Given the description of an element on the screen output the (x, y) to click on. 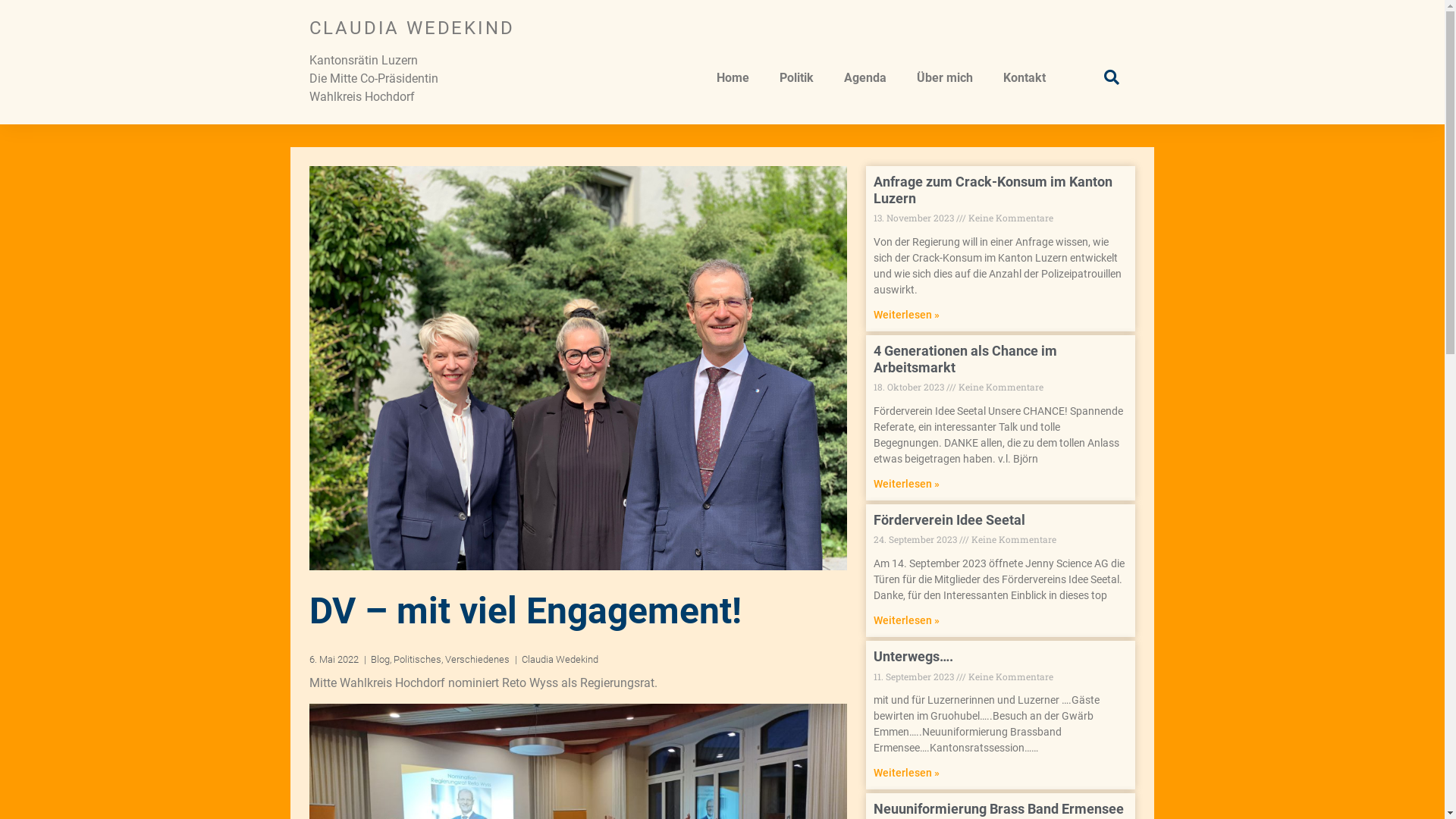
Politisches Element type: text (416, 659)
Anfrage zum Crack-Konsum im Kanton Luzern Element type: text (992, 189)
Home Element type: text (732, 77)
Blog Element type: text (379, 659)
Verschiedenes Element type: text (476, 659)
6. Mai 2022 Element type: text (333, 659)
Neuuniformierung Brass Band Ermensee Element type: text (998, 808)
Politik Element type: text (796, 77)
CLAUDIA WEDEKIND Element type: text (411, 27)
Agenda Element type: text (864, 77)
Kontakt Element type: text (1024, 77)
4 Generationen als Chance im Arbeitsmarkt Element type: text (965, 358)
